Given the description of an element on the screen output the (x, y) to click on. 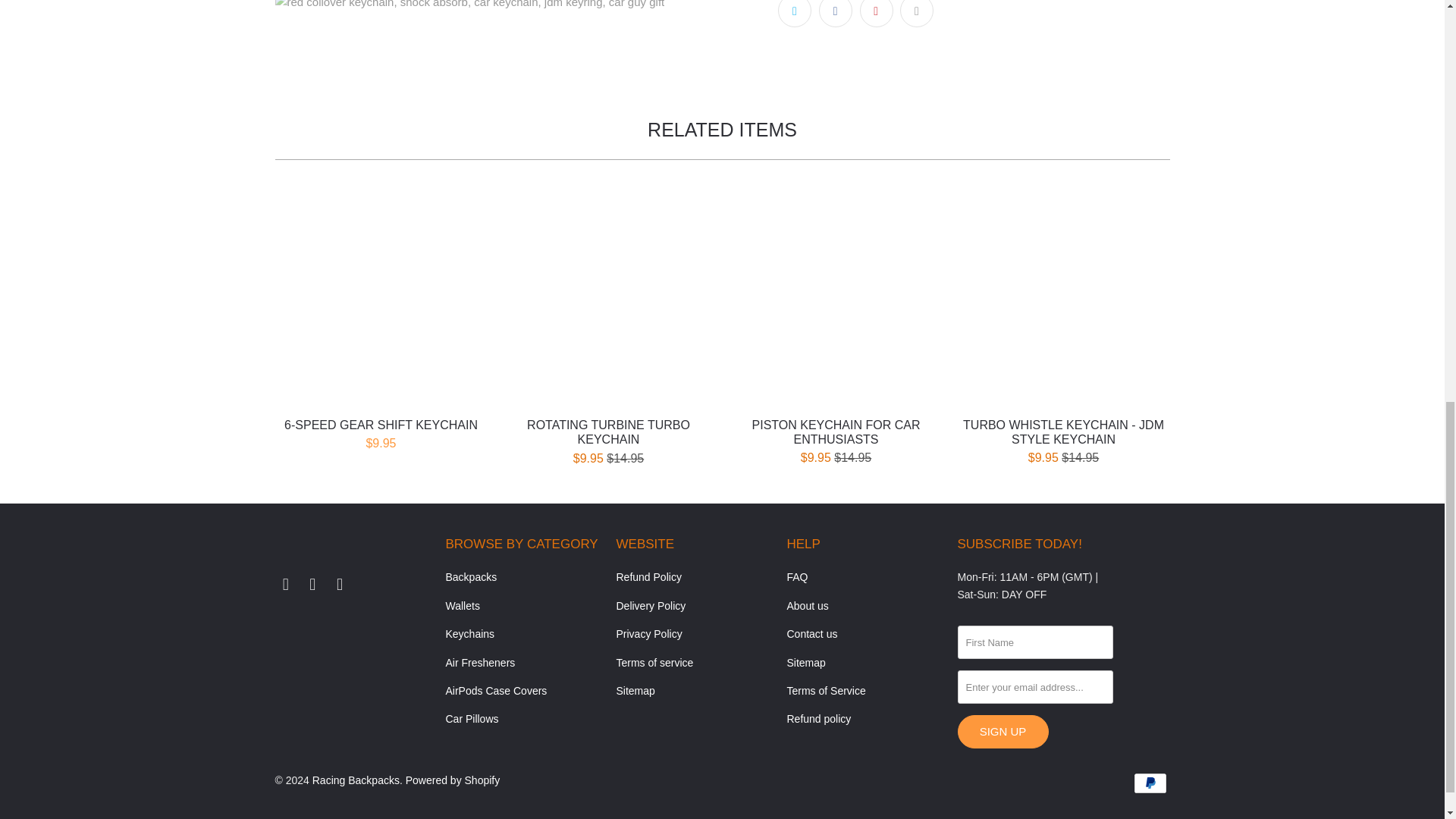
Racing Backpacks on Instagram (312, 584)
Share this on Facebook (834, 13)
Sign Up (1002, 731)
PayPal (1150, 783)
Racing Backpacks on Facebook (286, 584)
Email this to a friend (916, 13)
Share this on Pinterest (876, 13)
Email Racing Backpacks (340, 584)
Share this on Twitter (793, 13)
